Given the description of an element on the screen output the (x, y) to click on. 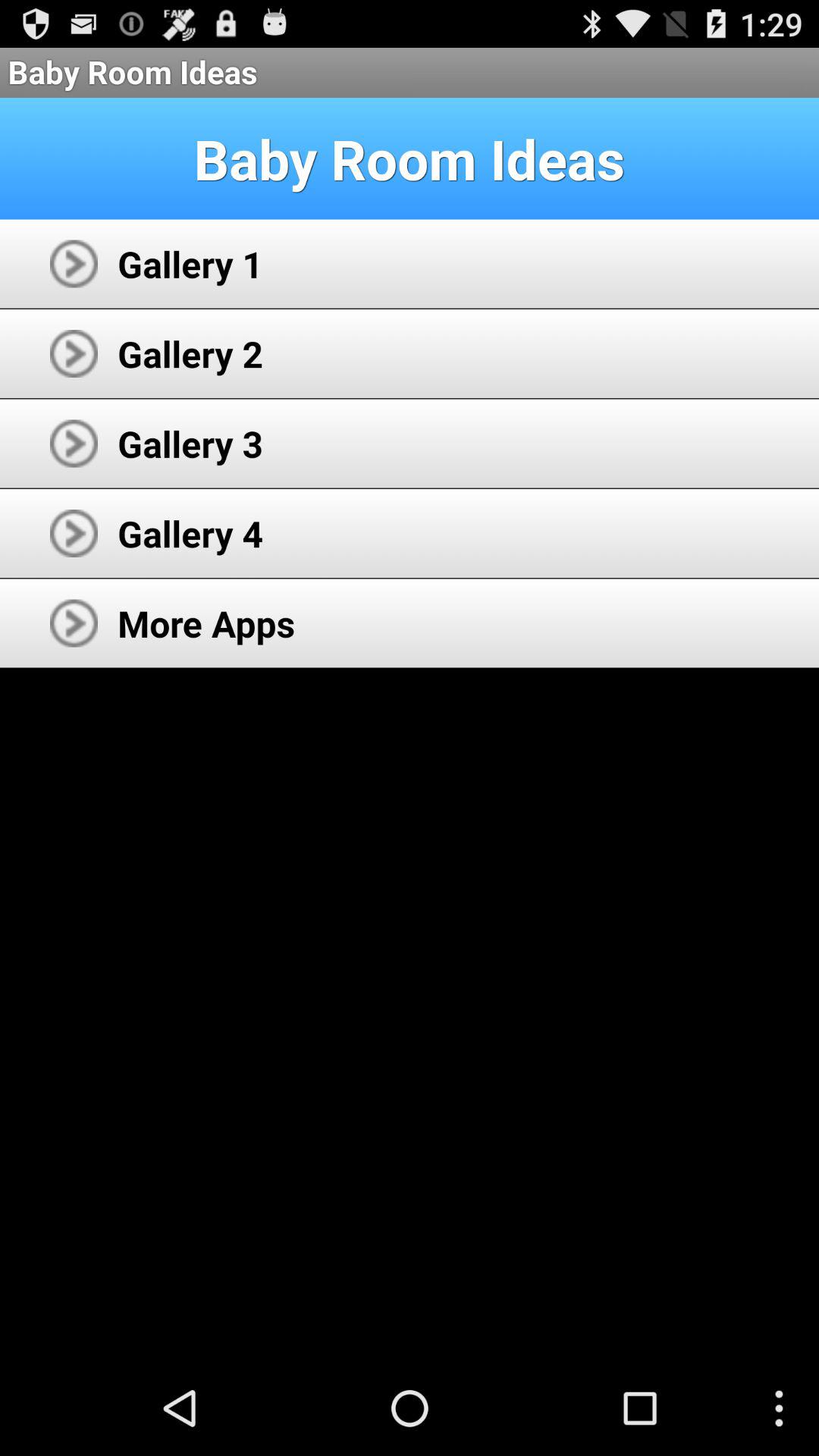
launch the icon below gallery 3 (190, 533)
